Given the description of an element on the screen output the (x, y) to click on. 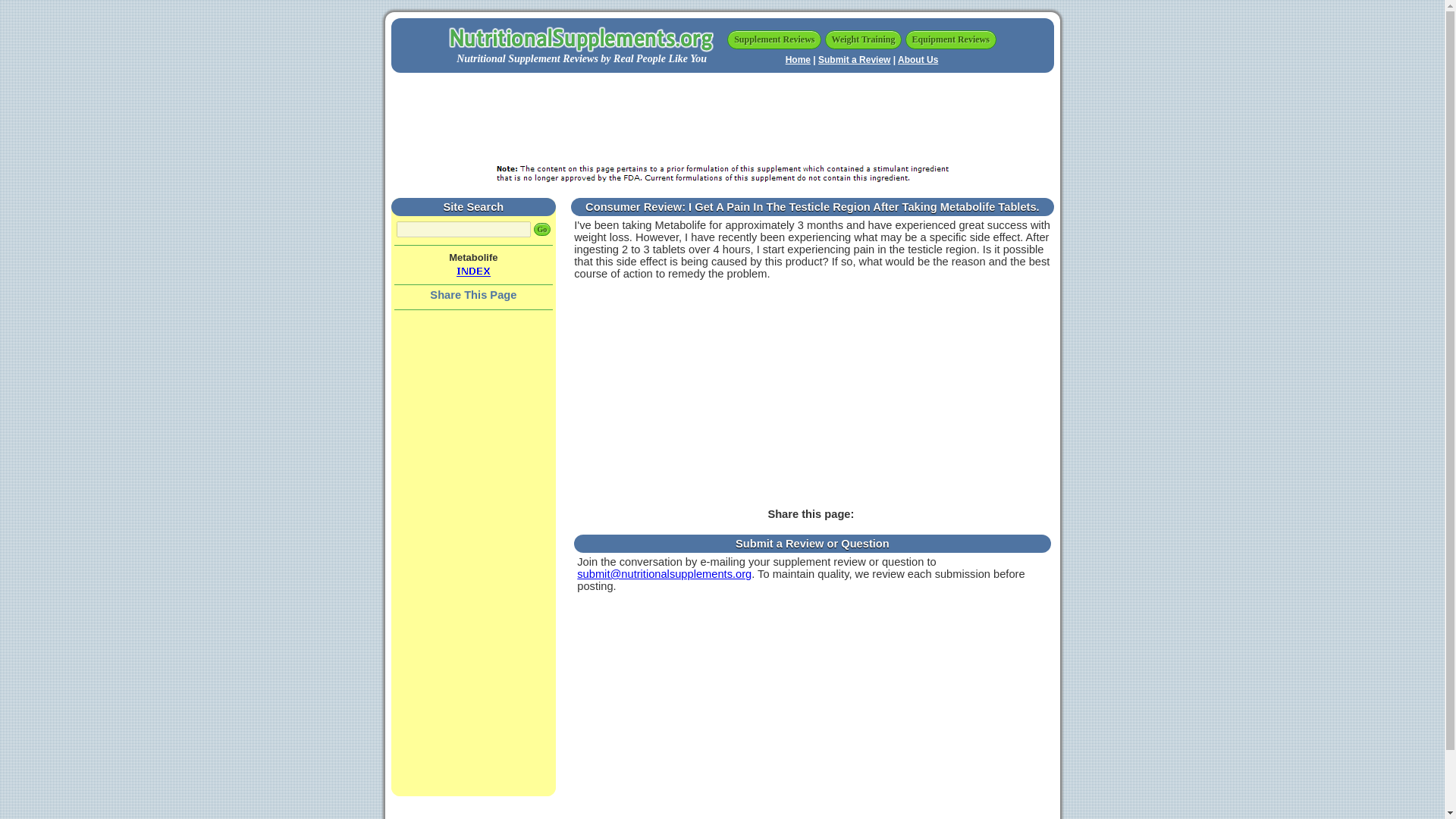
Advertisement (721, 119)
Supplement Reviews (773, 39)
Go (542, 228)
Weight Training (863, 39)
Equipment Reviews (950, 39)
About Us (917, 59)
Home (798, 59)
Submit a Review (853, 59)
Go (542, 228)
Advertisement (812, 398)
